Given the description of an element on the screen output the (x, y) to click on. 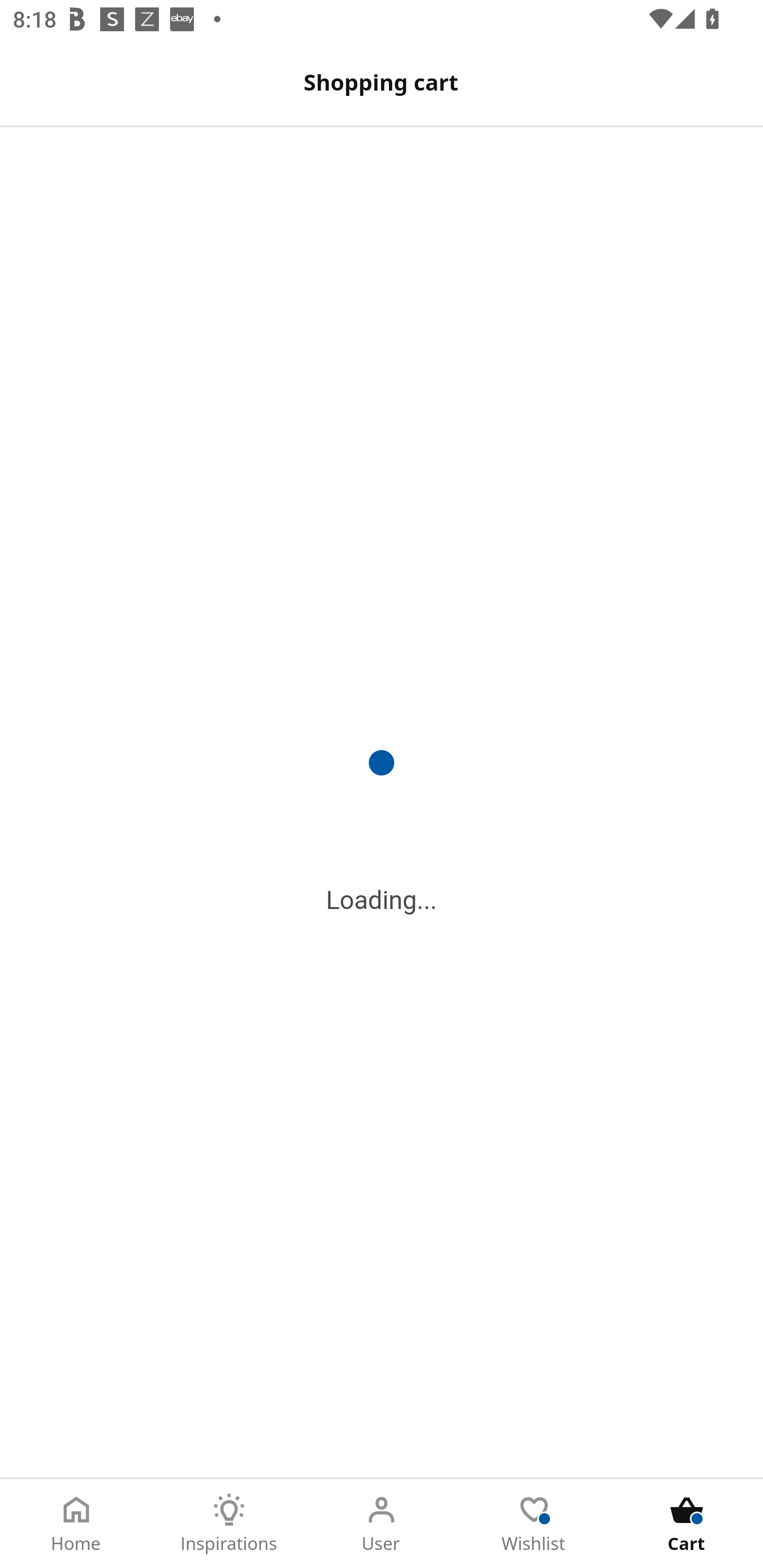
Home
Tab 1 of 5 (76, 1522)
Inspirations
Tab 2 of 5 (228, 1522)
User
Tab 3 of 5 (381, 1522)
Wishlist
Tab 4 of 5 (533, 1522)
Cart
Tab 5 of 5 (686, 1522)
